Given the description of an element on the screen output the (x, y) to click on. 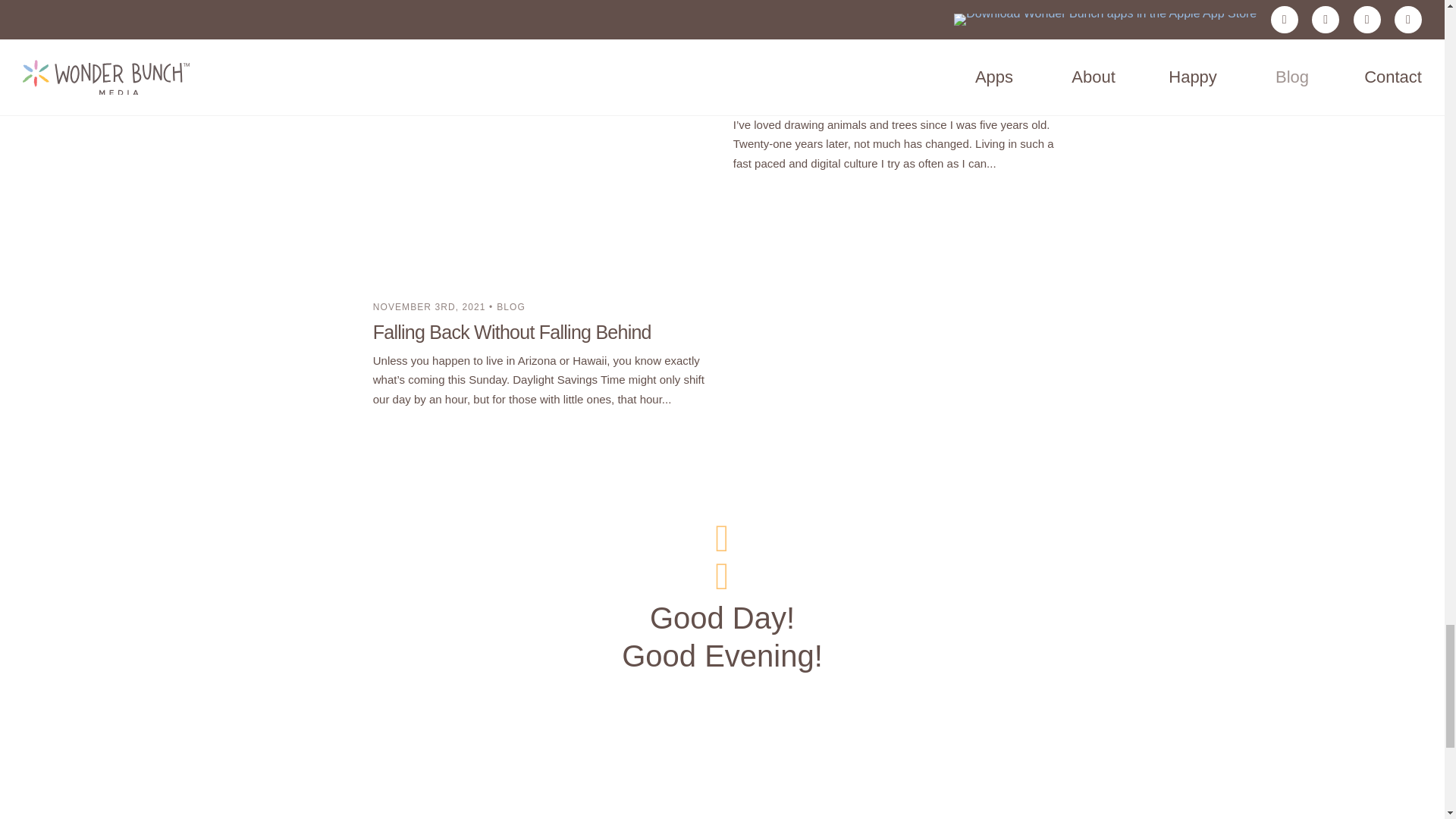
BLOG (873, 50)
Meet Our Chief Creative Officer and Learn What Inspires Him! (873, 86)
Meet Our Chief Creative Officer and Learn What Inspires Him! (902, 18)
Falling Back Without Falling Behind (541, 145)
BLOG (509, 307)
Falling Back Without Falling Behind (511, 332)
